Given the description of an element on the screen output the (x, y) to click on. 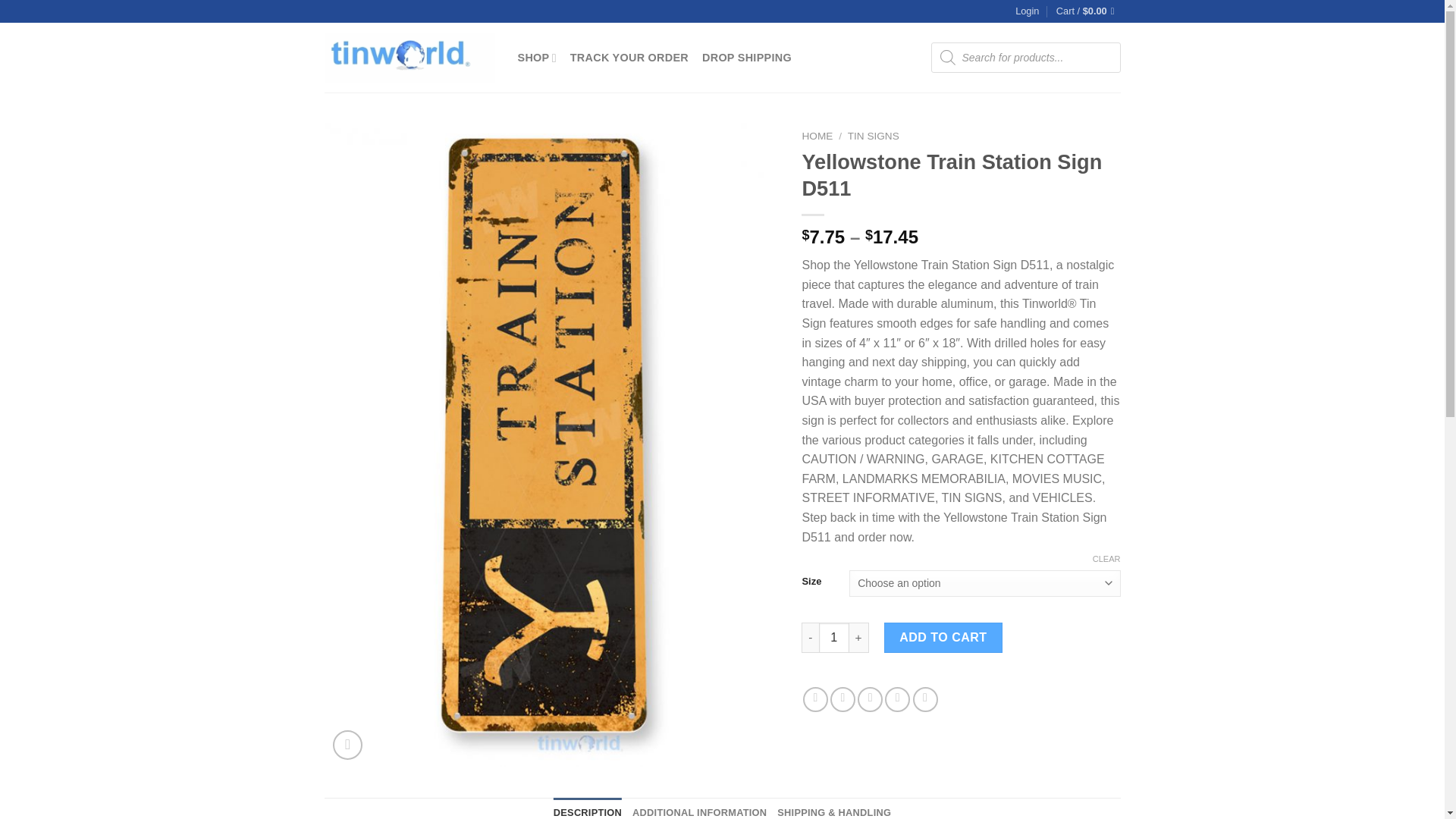
SHOP (536, 57)
Email to a Friend (869, 699)
Qty (833, 637)
Pin on Pinterest (897, 699)
Share on Facebook (815, 699)
1 (833, 637)
DROP SHIPPING (746, 57)
TRACK YOUR ORDER (629, 57)
Zoom (347, 745)
Share on Twitter (842, 699)
